Given the description of an element on the screen output the (x, y) to click on. 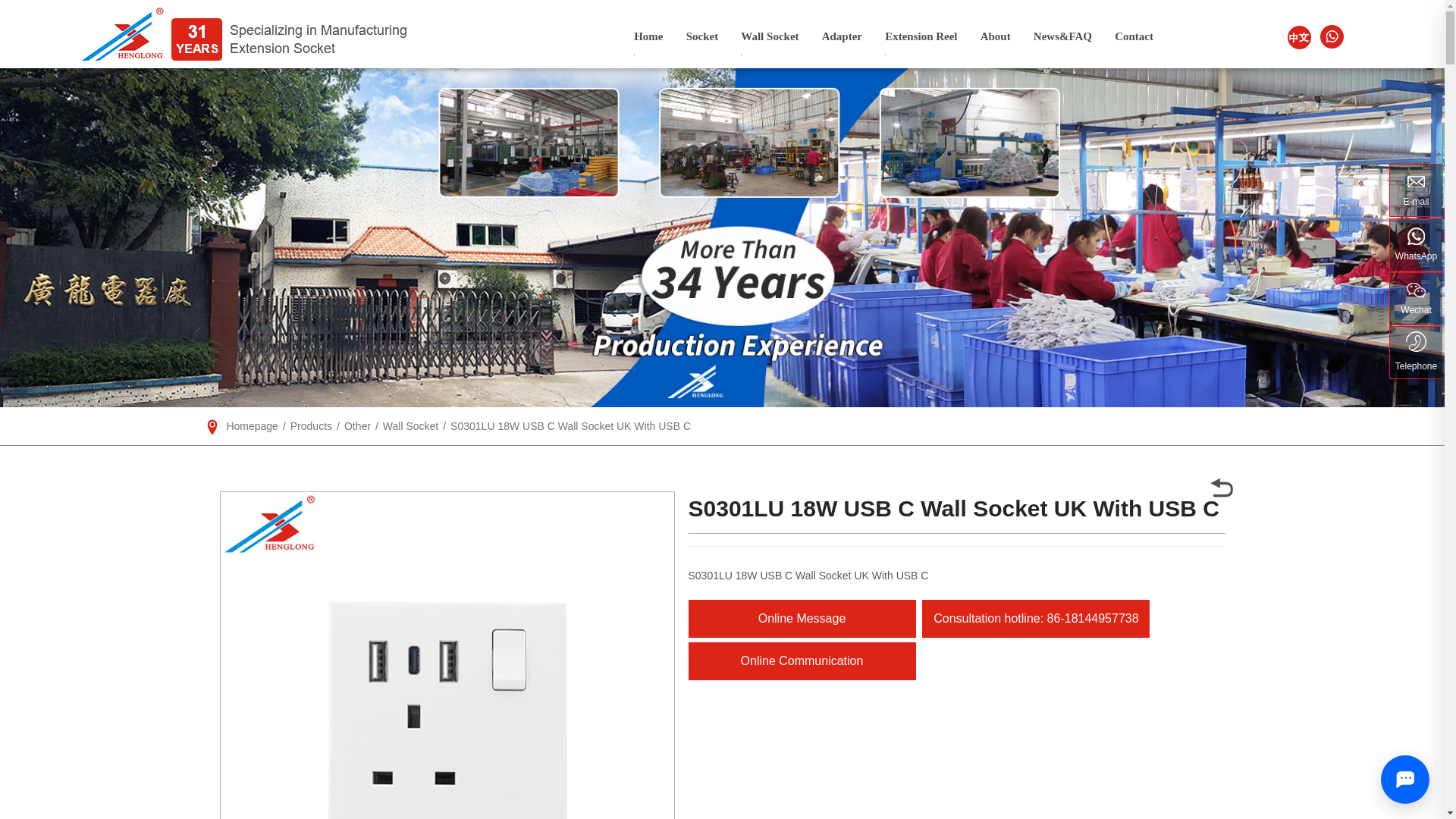
30year (288, 39)
Open chat window (1404, 779)
Home (647, 36)
Adapter (841, 36)
Products (310, 426)
Extension Reel (920, 36)
Homepage (251, 426)
About (994, 36)
cn (1299, 37)
Contact (1134, 36)
Socket (702, 36)
Wall Socket (769, 36)
